Given the description of an element on the screen output the (x, y) to click on. 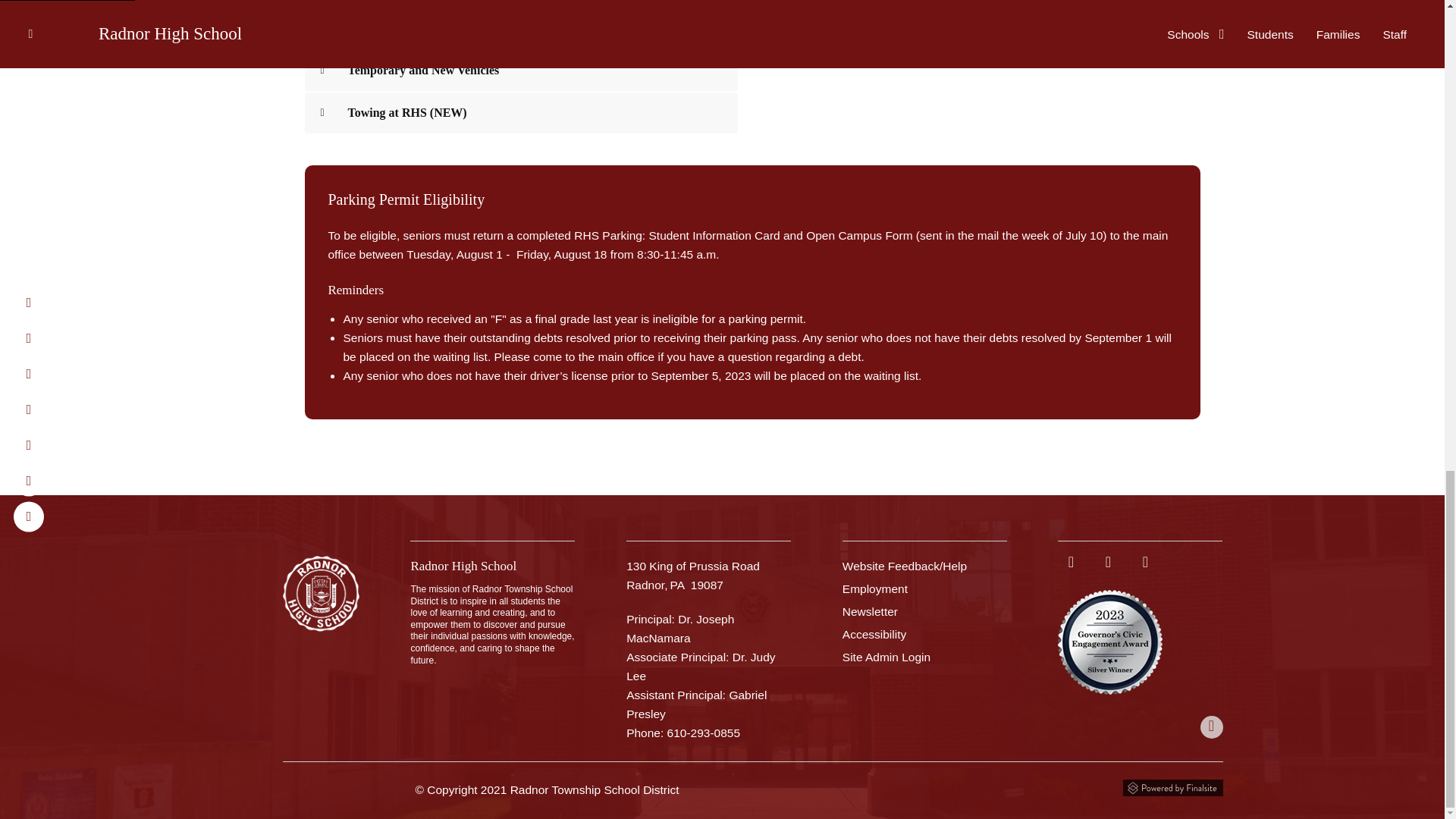
Powered by Finalsite opens in a new window (1172, 787)
